Given the description of an element on the screen output the (x, y) to click on. 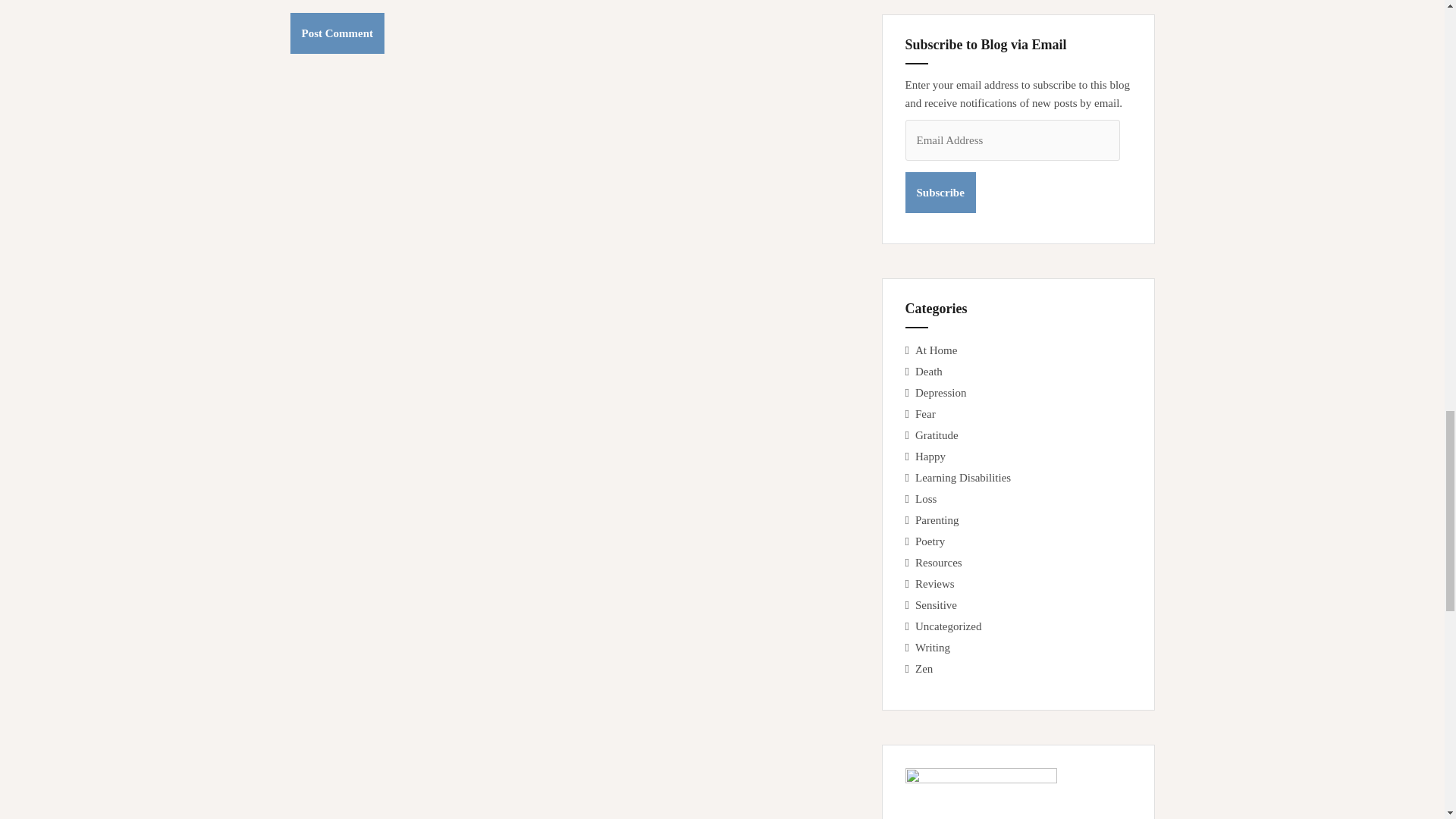
Zen (924, 668)
Resources (938, 562)
Writing (932, 647)
Learning Disabilities (962, 477)
Happy (929, 456)
Post Comment (336, 33)
Depression (940, 392)
Loss (925, 499)
Gratitude (936, 435)
Subscribe (940, 191)
Fear (925, 413)
Post Comment (336, 33)
Subscribe (940, 191)
Death (928, 371)
Poetry (929, 541)
